Given the description of an element on the screen output the (x, y) to click on. 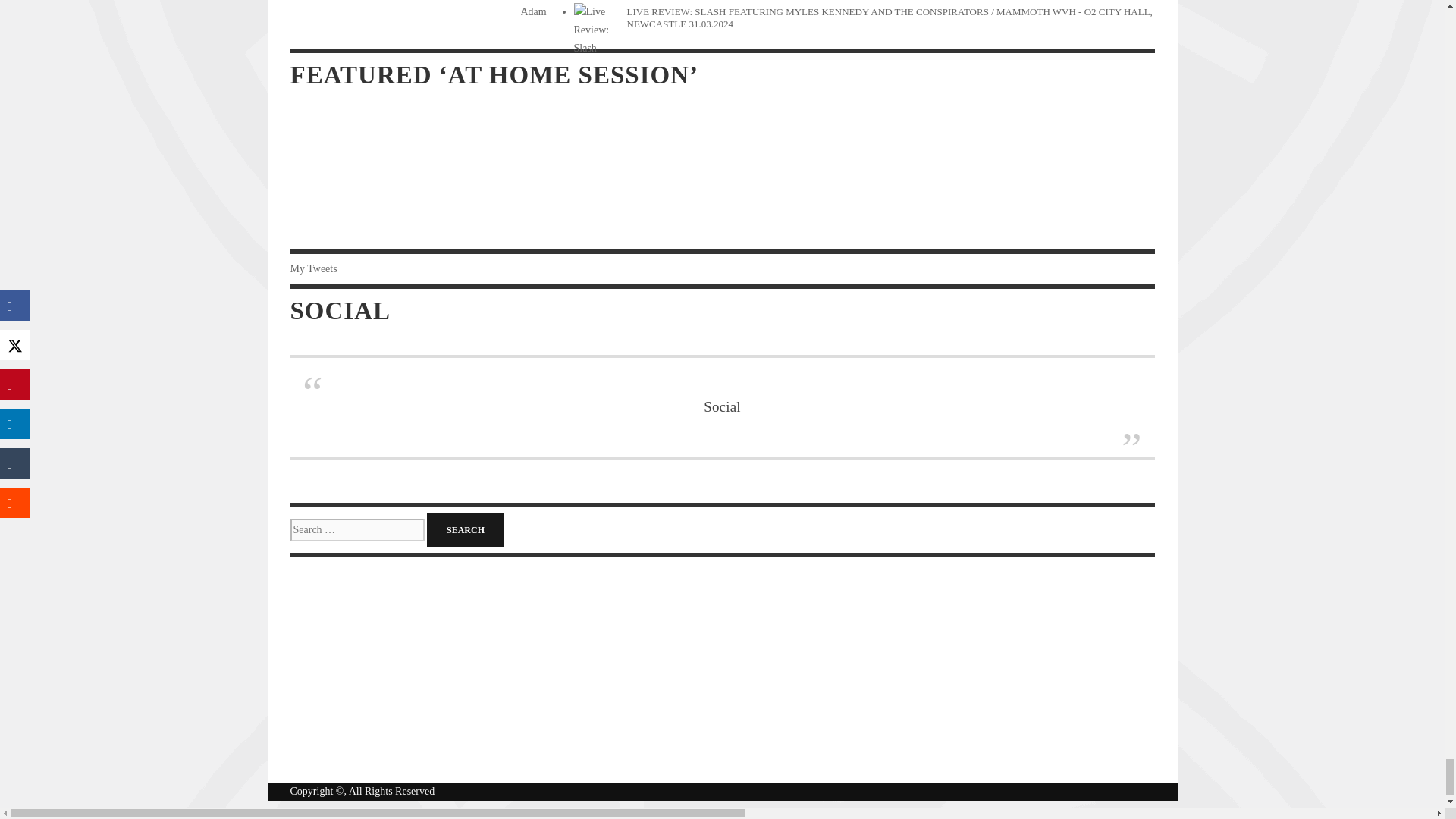
Search (464, 530)
Search (464, 530)
